Given the description of an element on the screen output the (x, y) to click on. 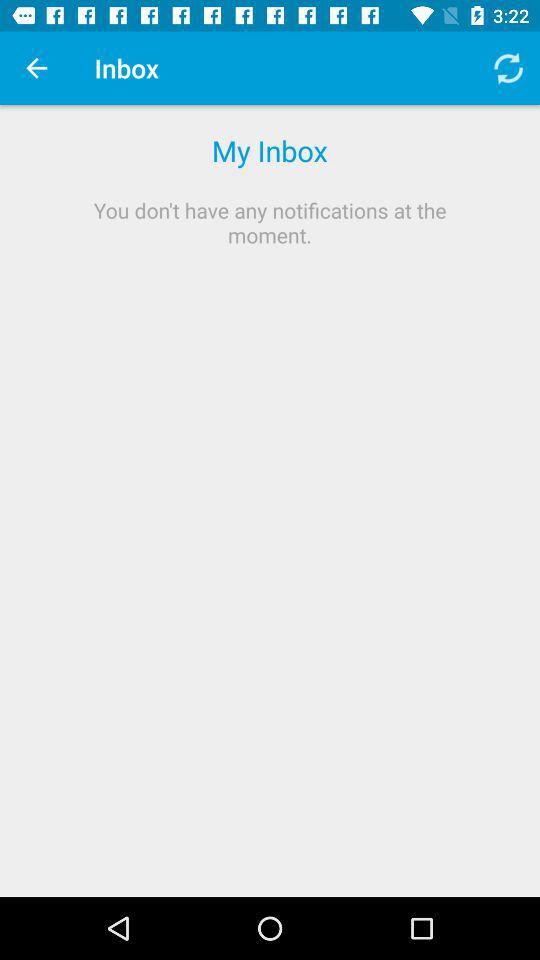
open icon above the you don t icon (36, 68)
